Given the description of an element on the screen output the (x, y) to click on. 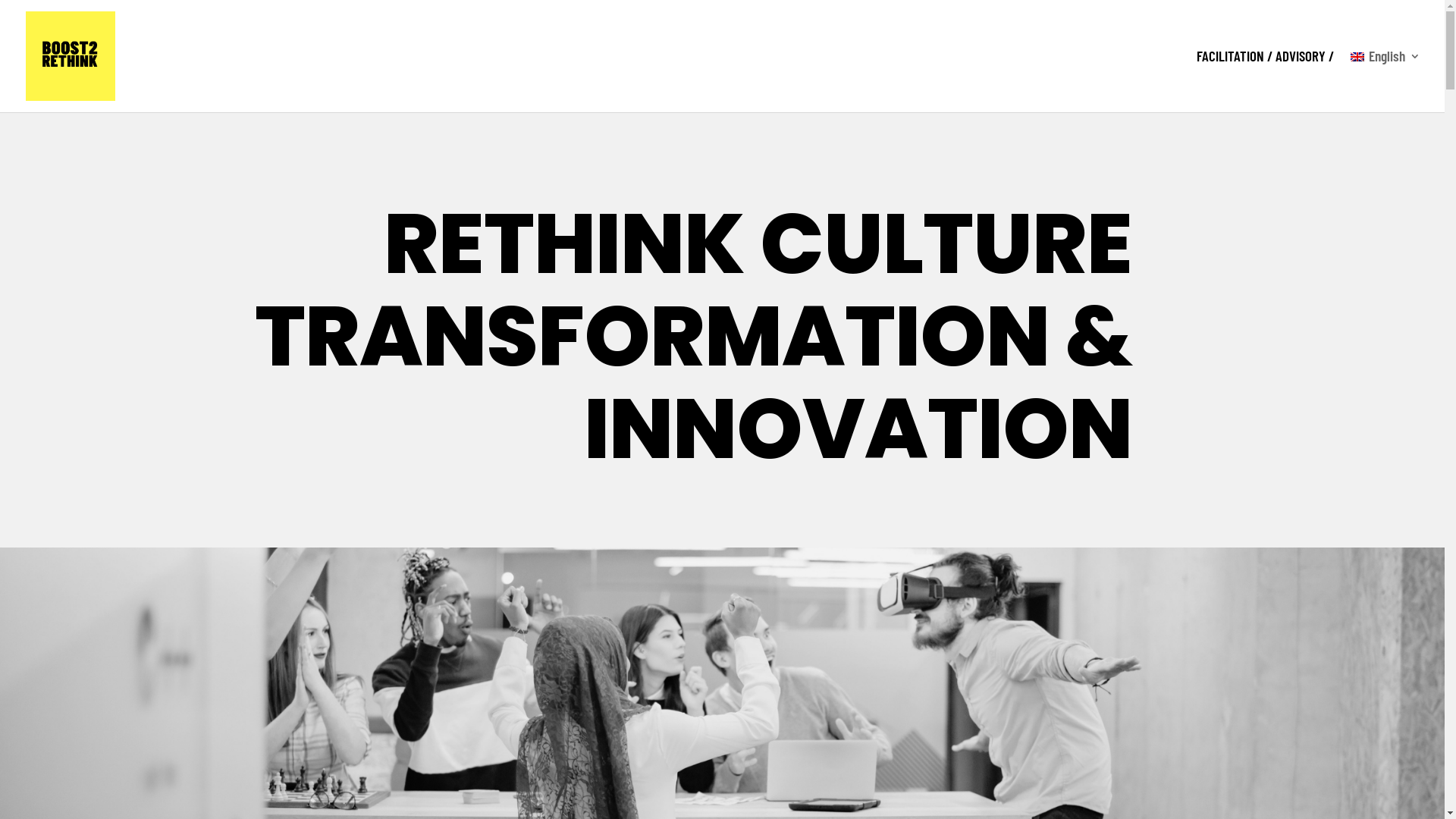
FACILITATION / ADVISORY / Element type: text (1264, 81)
English Element type: text (1385, 81)
